Given the description of an element on the screen output the (x, y) to click on. 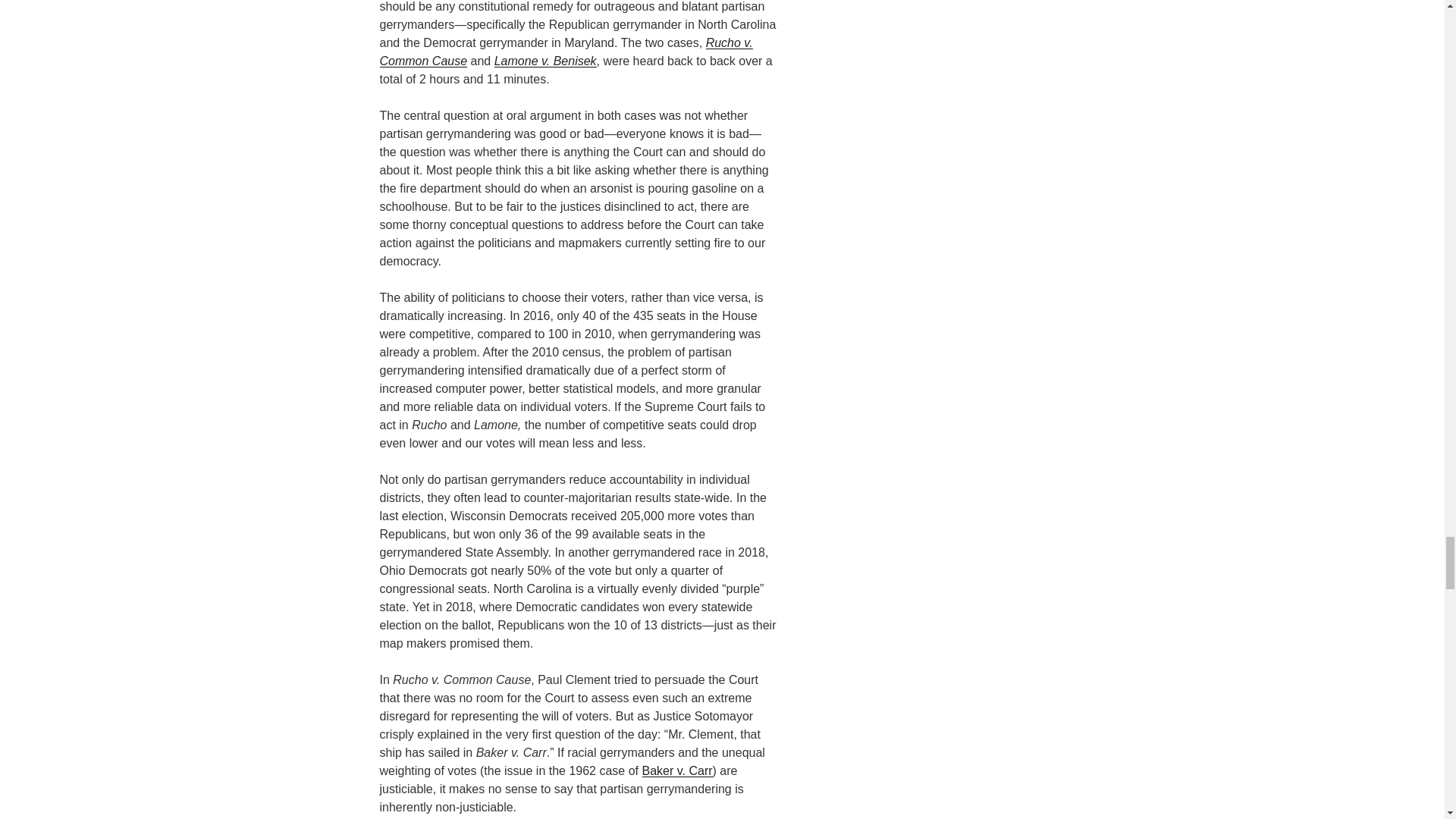
Baker v. Carr (676, 770)
Lamone v. Benisek (545, 60)
Rucho v. Common Cause (565, 51)
